Given the description of an element on the screen output the (x, y) to click on. 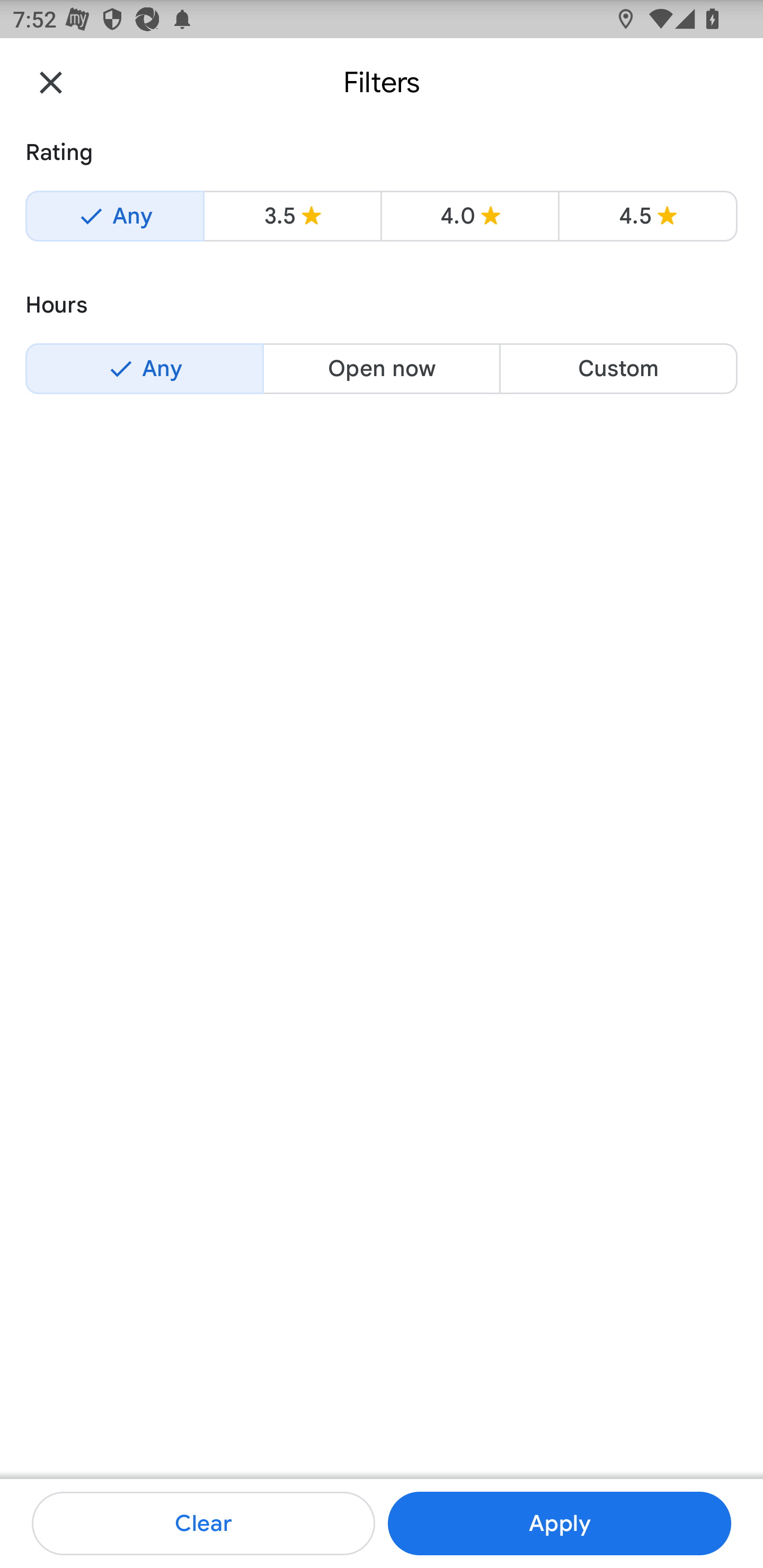
Close menu (50, 81)
Any (114, 216)
3.5 stars (292, 216)
4.0 stars (469, 216)
4.5 stars (647, 216)
Any (144, 368)
Open now (381, 368)
Custom (618, 368)
Clear Clear Clear (203, 1522)
Apply Apply Apply (558, 1522)
